Given the description of an element on the screen output the (x, y) to click on. 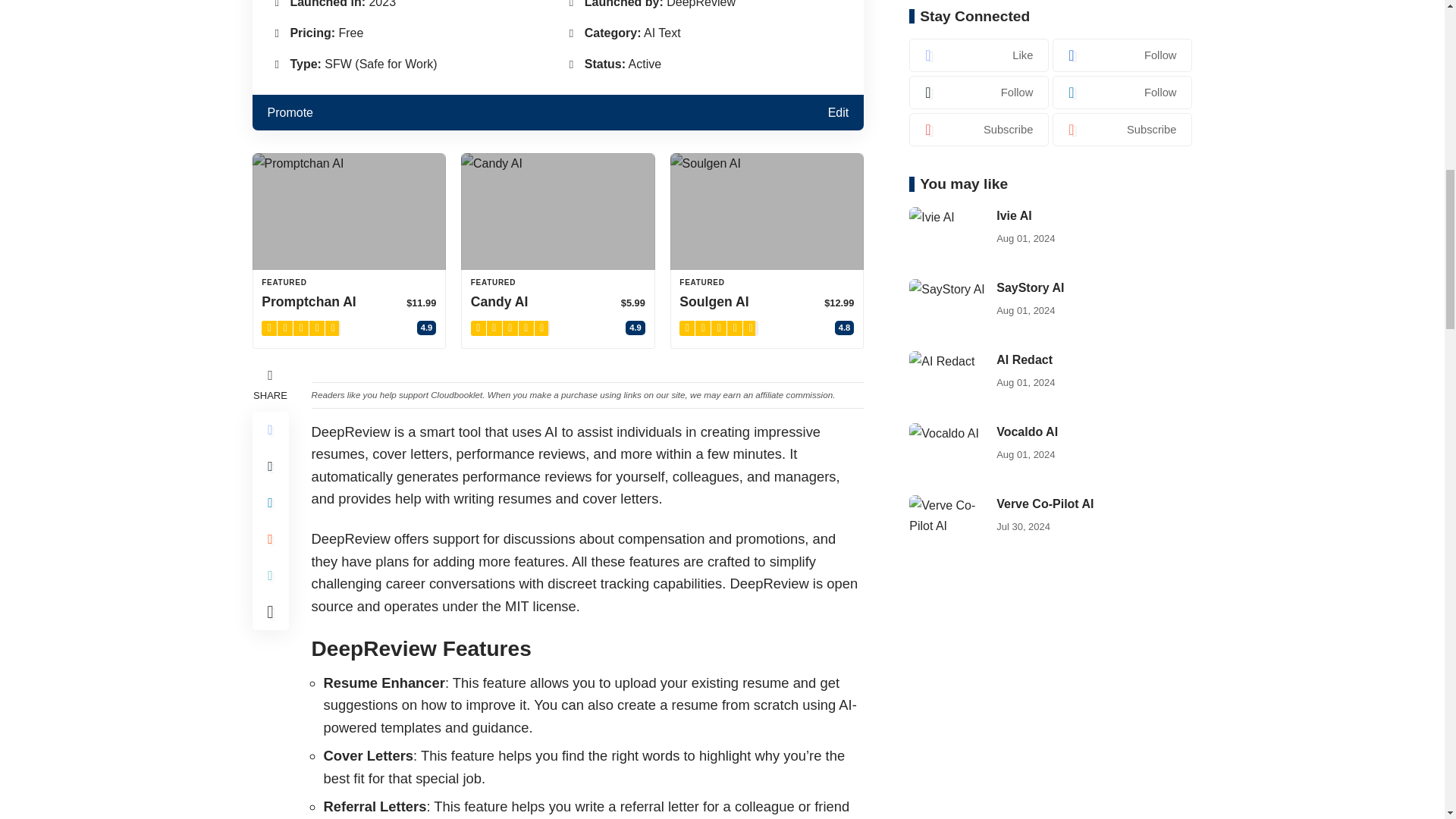
Promptchan AI (348, 211)
Candy AI (558, 211)
Soulgen AI (766, 211)
